Given the description of an element on the screen output the (x, y) to click on. 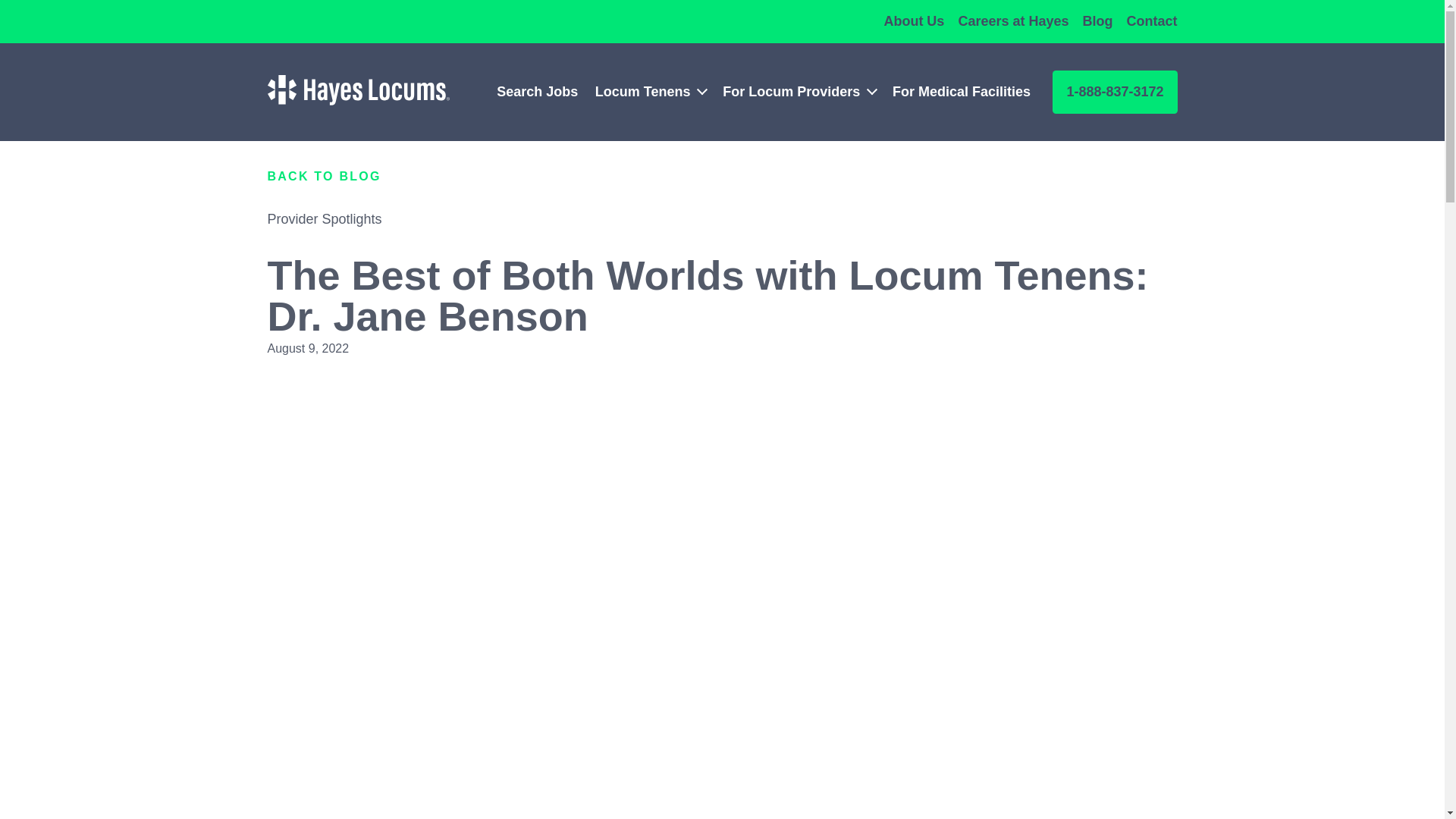
BACK TO BLOG (323, 175)
Search Jobs (537, 91)
For Medical Facilities (961, 91)
For Locum Providers (791, 91)
About Us (913, 20)
Blog (1098, 20)
Contact (1151, 20)
Careers at Hayes (1013, 20)
1-888-837-3172 (1114, 91)
Locum Tenens (642, 91)
